Given the description of an element on the screen output the (x, y) to click on. 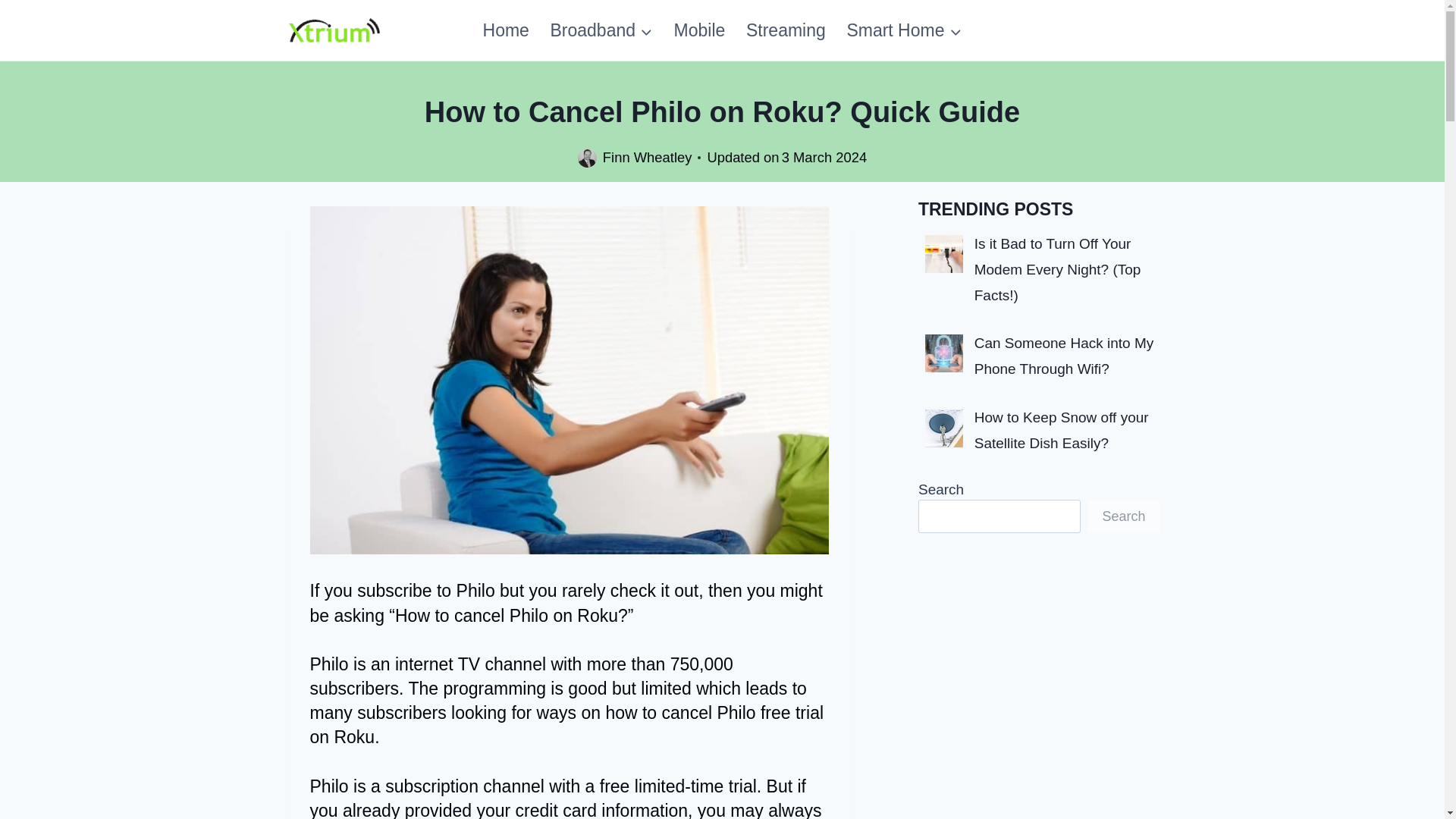
How to Keep Snow off your Satellite Dish Easily? 5 (943, 428)
Finn Wheatley (647, 157)
Smart Home (903, 30)
Home (505, 30)
Broadband (601, 30)
Streaming (785, 30)
Can Someone Hack into My Phone Through Wifi? 4 (943, 353)
Mobile (699, 30)
